Given the description of an element on the screen output the (x, y) to click on. 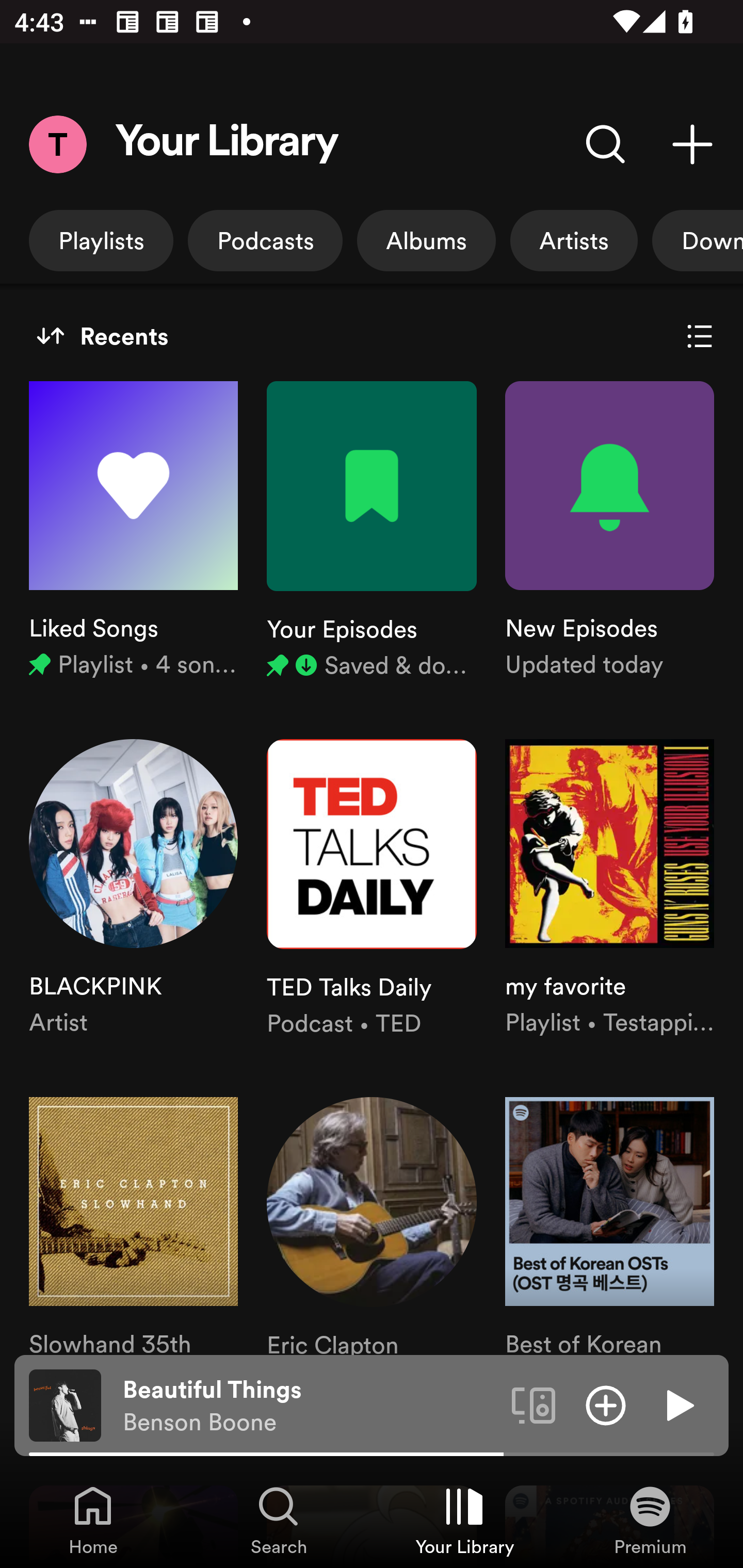
Menu (57, 144)
Search Your Library (605, 144)
Create playlist (692, 144)
Your Library Your Library Heading (226, 144)
Playlists, show only playlists. (100, 240)
Podcasts, show only podcasts. (264, 240)
Albums, show only albums. (426, 240)
Artists, show only artists. (573, 240)
Downloaded, show only downloaded. (697, 240)
Recents (101, 336)
Show List view (699, 336)
BLACKPINK, Artist,  BLACKPINK Artist (132, 888)
Eric Clapton, Artist,  Eric Clapton Artist (371, 1262)
Beautiful Things Benson Boone (309, 1405)
The cover art of the currently playing track (64, 1404)
Connect to a device. Opens the devices menu (533, 1404)
Add item (605, 1404)
Play (677, 1404)
Home, Tab 1 of 4 Home Home (92, 1519)
Search, Tab 2 of 4 Search Search (278, 1519)
Your Library, Tab 3 of 4 Your Library Your Library (464, 1519)
Premium, Tab 4 of 4 Premium Premium (650, 1519)
